Given the description of an element on the screen output the (x, y) to click on. 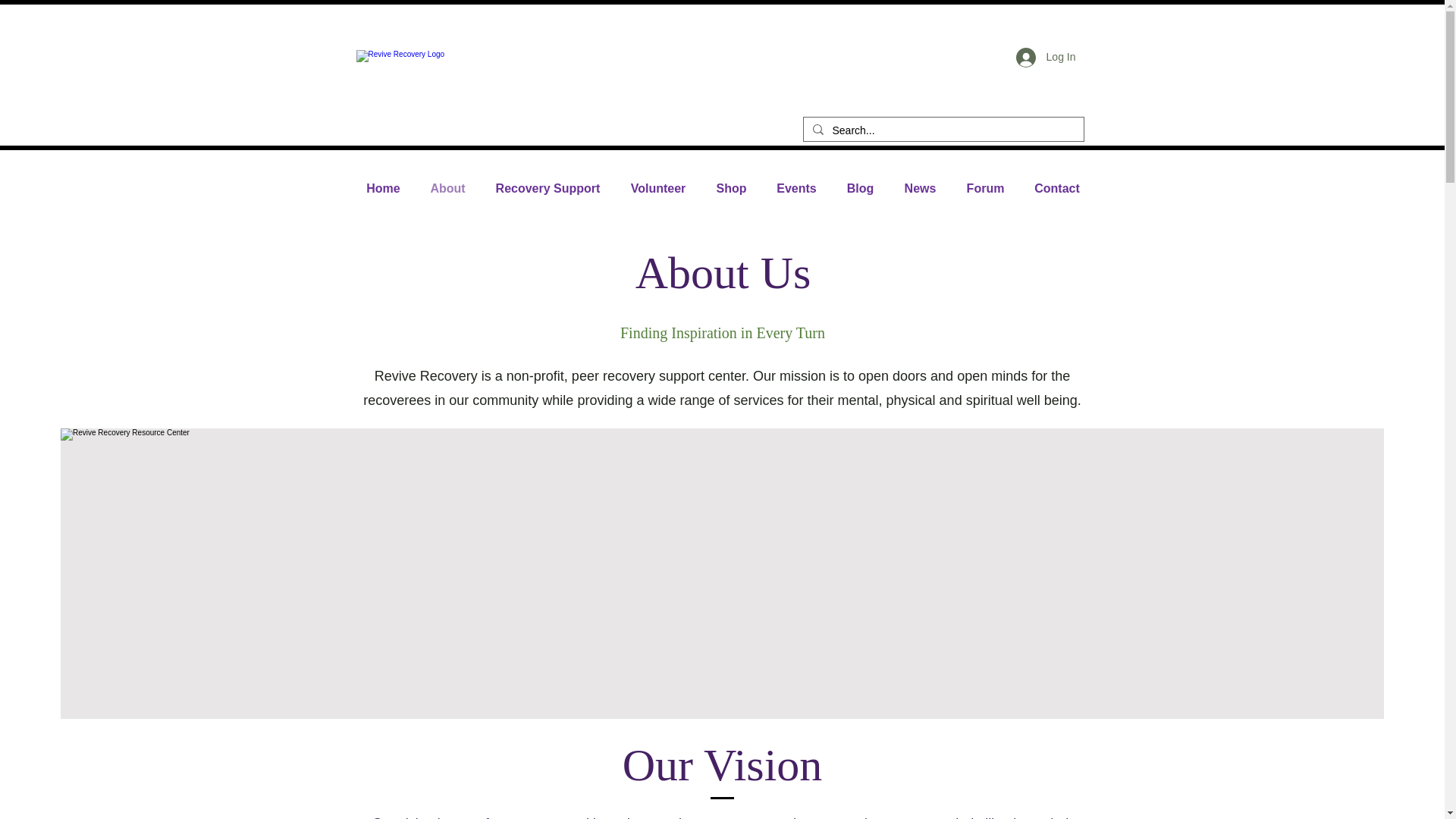
Forum (984, 188)
Volunteer (658, 188)
Recovery Support (547, 188)
Shop (730, 188)
News (919, 188)
Contact (1056, 188)
Home (383, 188)
About (447, 188)
Log In (1046, 57)
Events (796, 188)
